Given the description of an element on the screen output the (x, y) to click on. 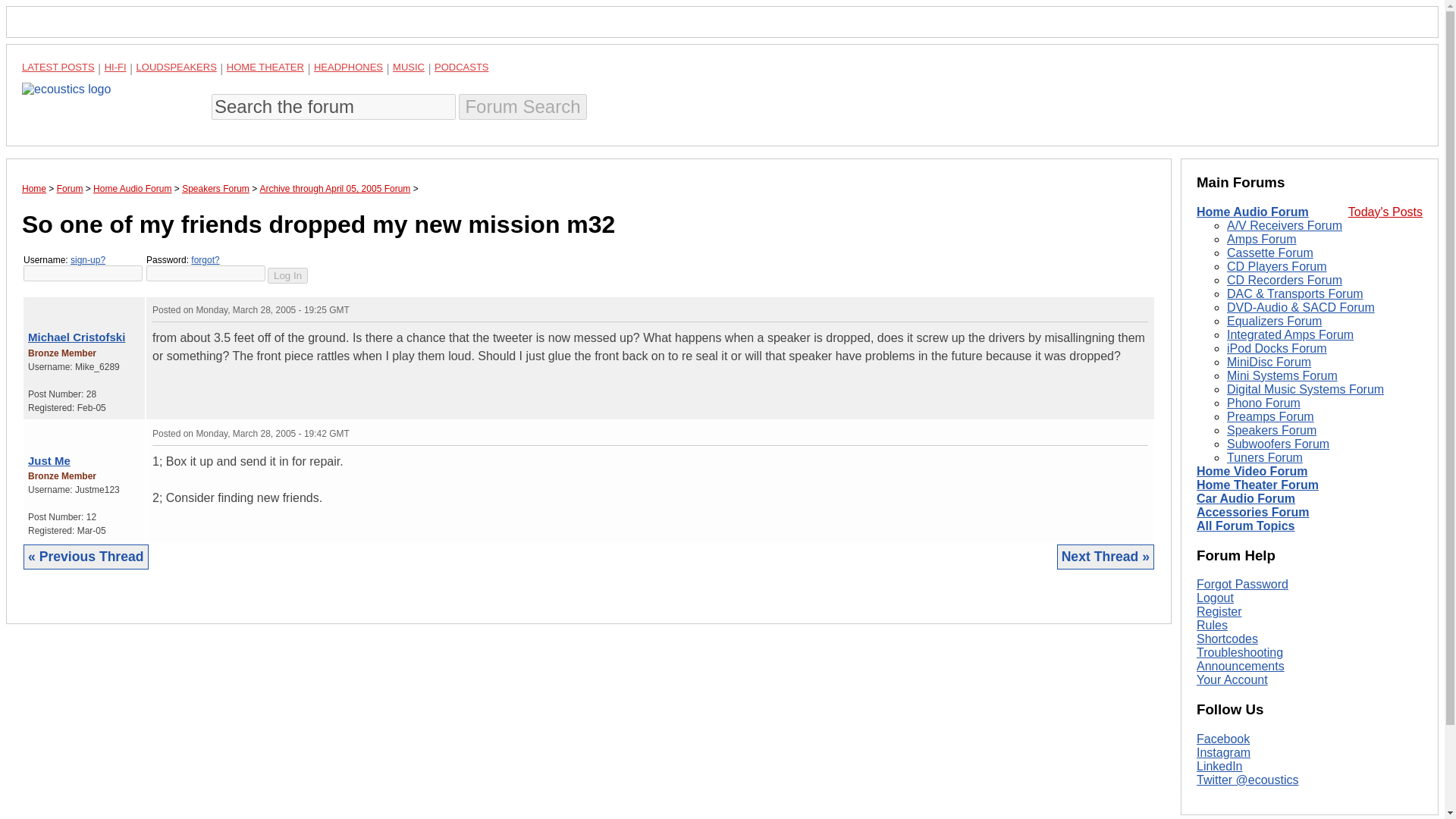
last post (50, 429)
Forgot your password? (204, 259)
MUSIC (409, 66)
Speakers Forum (215, 188)
link to this post (68, 307)
Home Audio Forum (1252, 211)
forgot? (204, 259)
Forum (69, 188)
previous post (41, 429)
Archive through April 05, 2005 Forum (335, 188)
PODCASTS (461, 66)
Search (522, 106)
link to this post (68, 429)
sign-up? (86, 259)
top of page (32, 307)
